Given the description of an element on the screen output the (x, y) to click on. 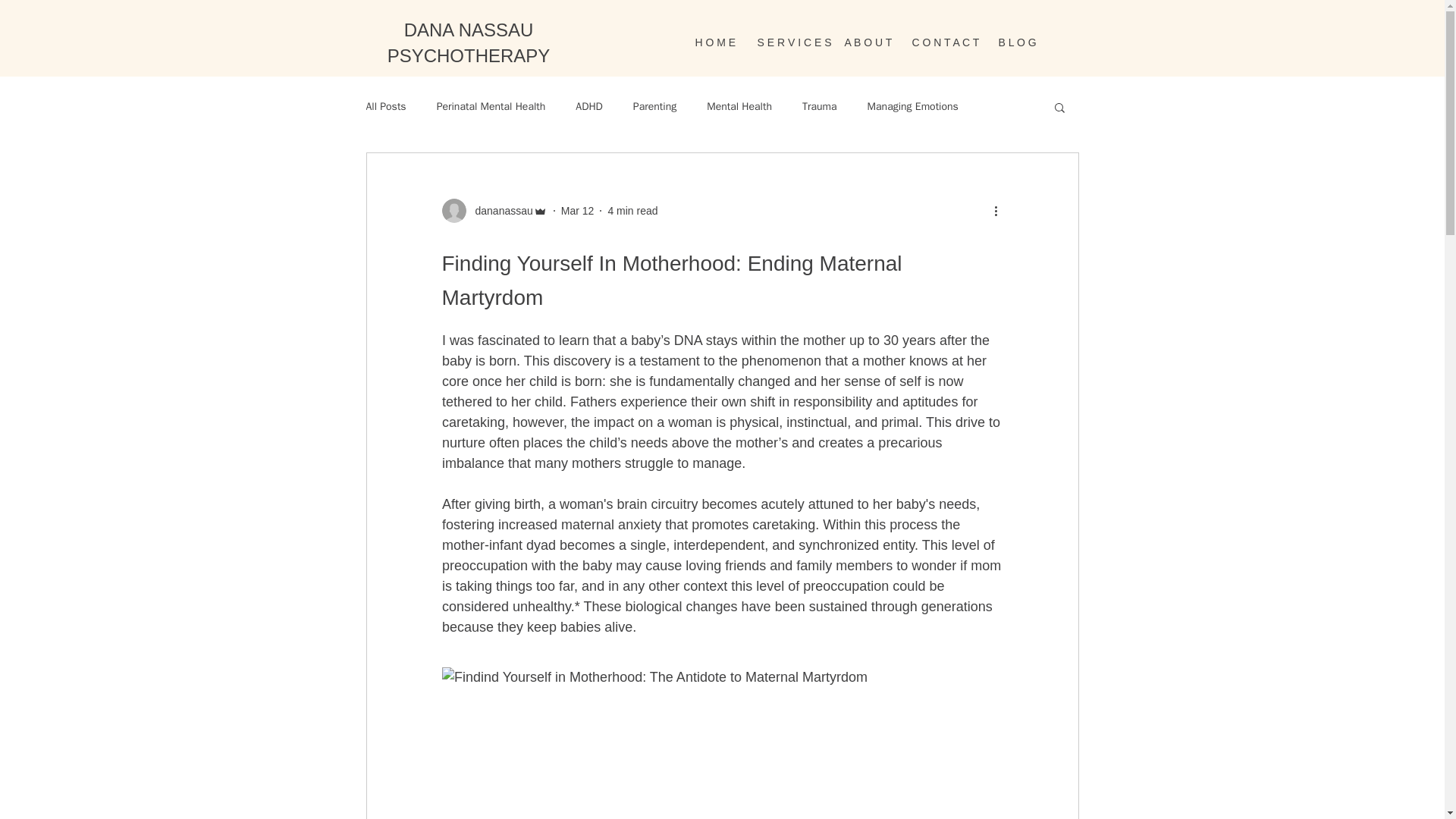
ADHD (588, 106)
Managing Emotions (912, 106)
dananassau (498, 211)
H O M E (714, 42)
A B O U T (865, 42)
Mar 12 (577, 210)
Trauma (819, 106)
Mental Health (738, 106)
4 min read (632, 210)
dananassau (494, 210)
